Given the description of an element on the screen output the (x, y) to click on. 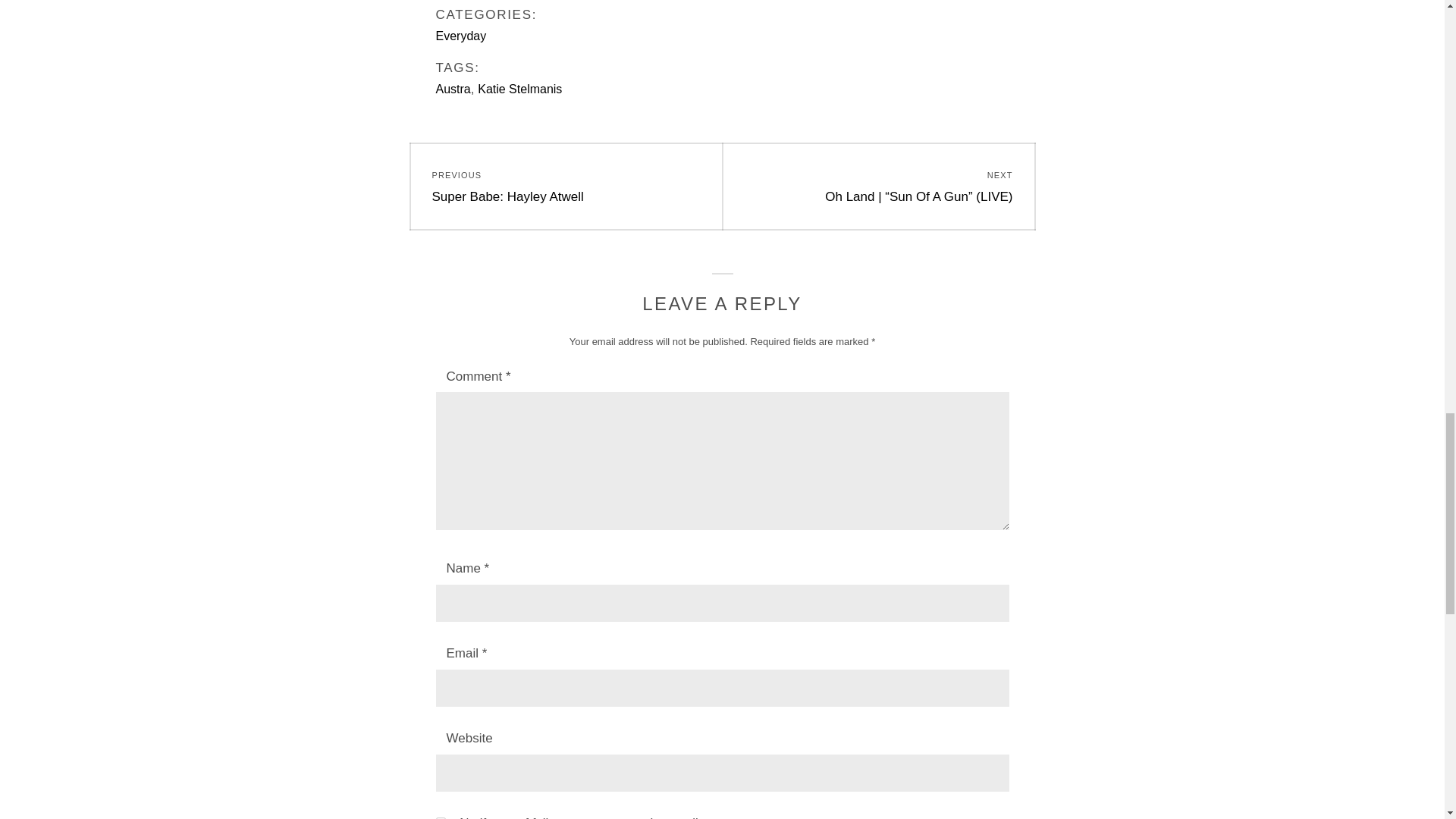
Katie Stelmanis (519, 88)
Austra (452, 88)
Everyday (460, 35)
